Given the description of an element on the screen output the (x, y) to click on. 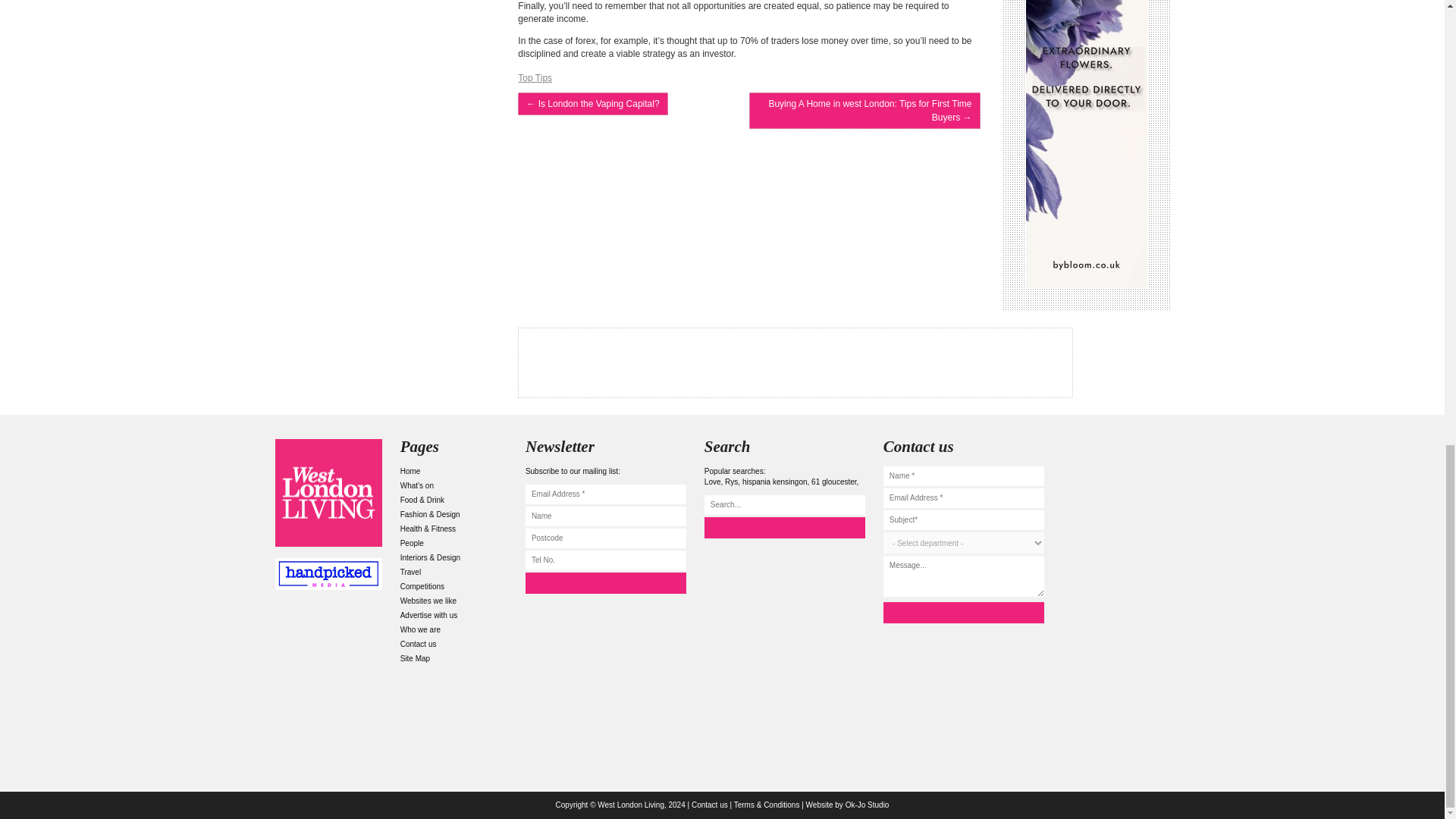
Tel No. (605, 560)
Search (784, 527)
Name (605, 516)
Subscribe (605, 582)
Postcode (605, 537)
Send (963, 612)
